Given the description of an element on the screen output the (x, y) to click on. 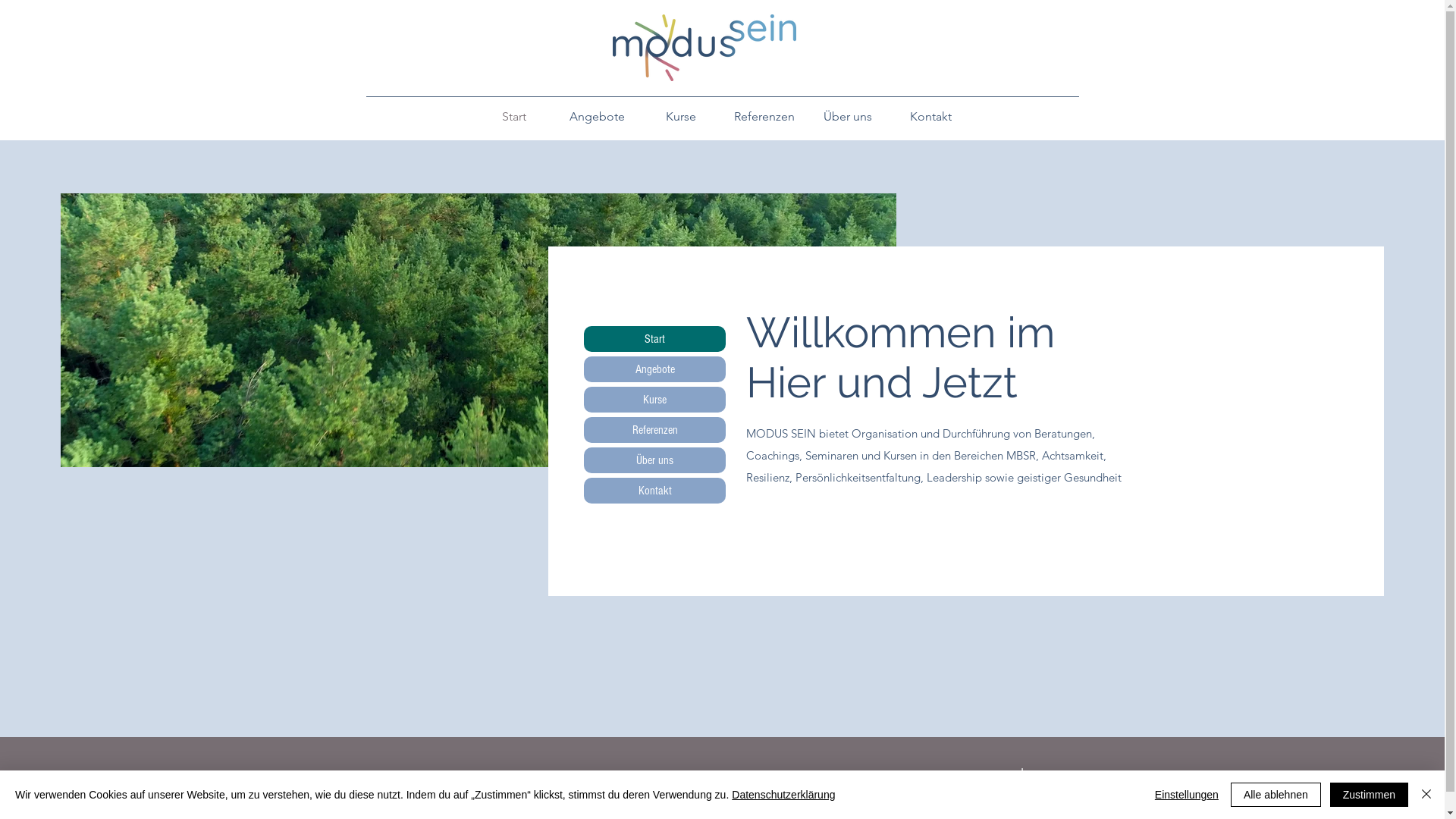
Start Element type: text (513, 116)
Zustimmen Element type: text (1369, 794)
Referenzen Element type: text (654, 429)
Angebote Element type: text (654, 369)
Kurse Element type: text (654, 399)
Start Element type: text (654, 338)
Angebote Element type: text (596, 116)
Logo von Modus Sein Element type: hover (704, 47)
Alle ablehnen Element type: text (1275, 794)
Kontakt Element type: text (654, 490)
Referenzen Element type: text (763, 116)
Kurse Element type: text (679, 116)
Datenschutz Element type: text (1046, 794)
MODUS SEIN Element type: text (721, 783)
Kontakt Element type: text (930, 116)
Impressum Element type: text (1049, 772)
